Given the description of an element on the screen output the (x, y) to click on. 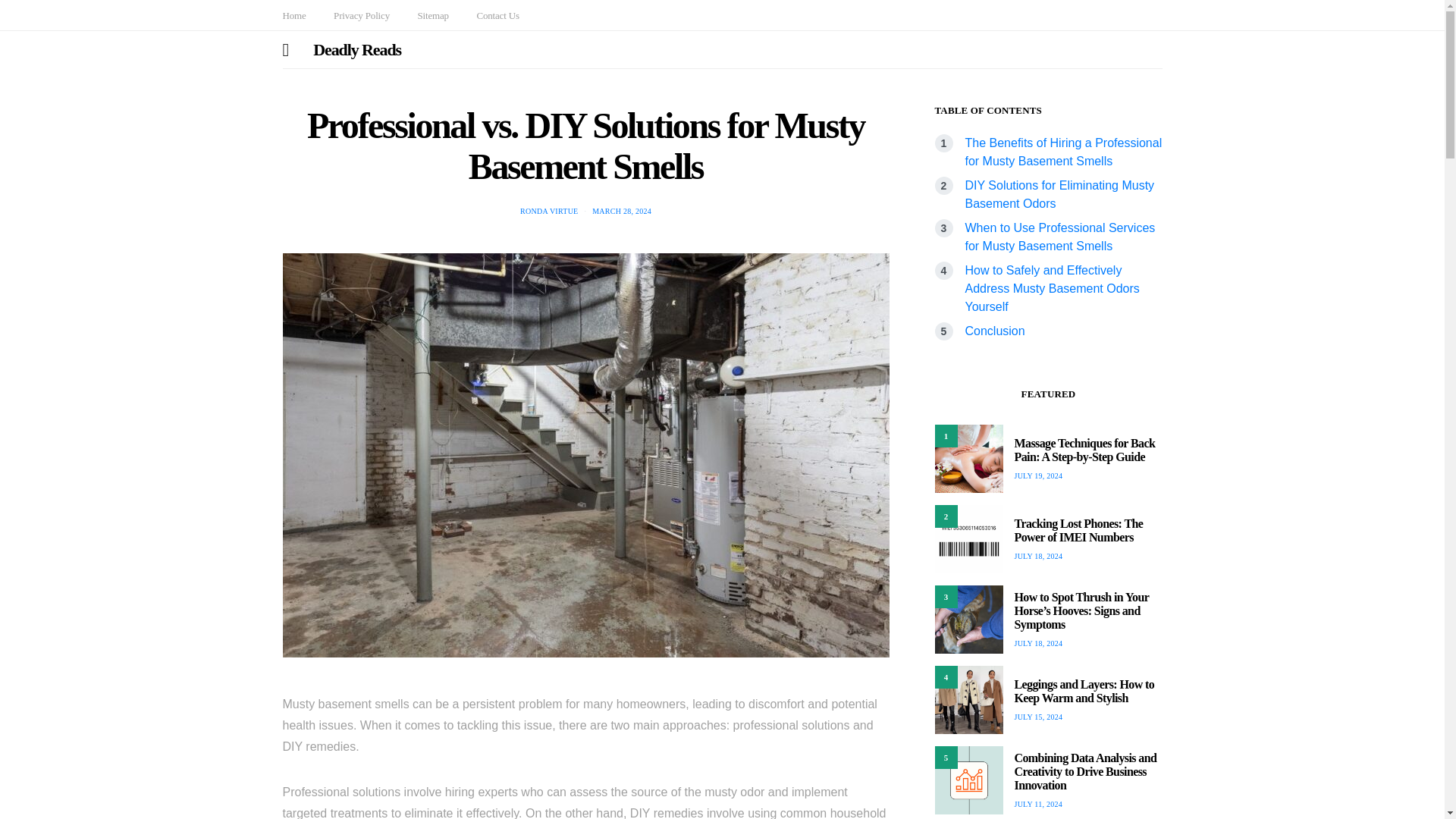
Sitemap (432, 15)
View all posts by Ronda Virtue (548, 211)
MARCH 28, 2024 (621, 211)
Privacy Policy (361, 15)
Massage Techniques for Back Pain: A Step-by-Step Guide (1085, 449)
DIY Solutions for Eliminating Musty Basement Odors (1058, 194)
Deadly Reads (357, 49)
Contact Us (497, 15)
Conclusion (994, 331)
When to Use Professional Services for Musty Basement Smells (1058, 237)
1 (968, 459)
RONDA VIRTUE (548, 211)
Home (293, 15)
